Given the description of an element on the screen output the (x, y) to click on. 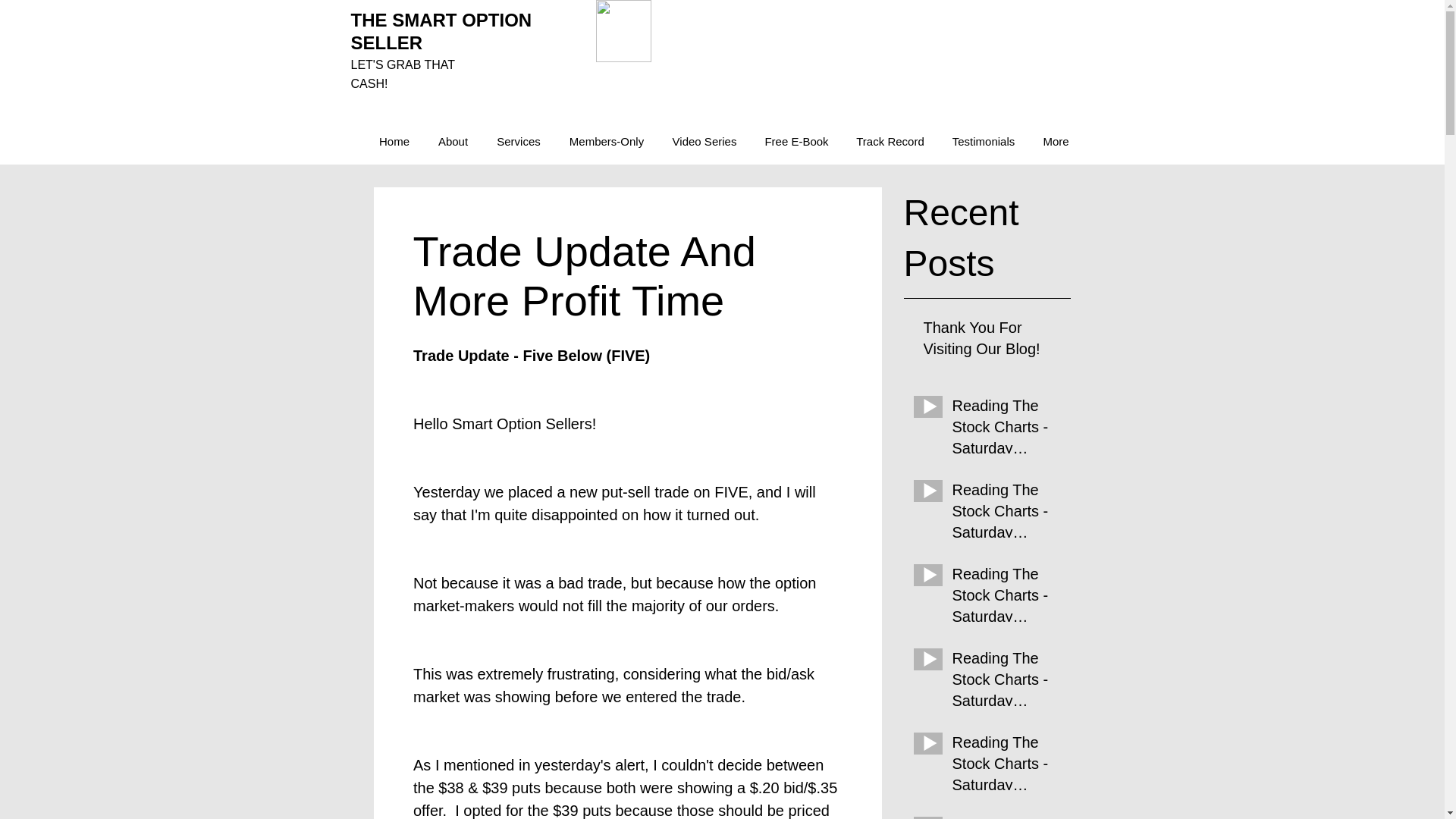
Home (394, 141)
About (452, 141)
Track Record (889, 141)
Testimonials (982, 141)
Free E-Book (797, 141)
Thank You For Visiting Our Blog! (992, 340)
Video Series (704, 141)
Services (517, 141)
